Given the description of an element on the screen output the (x, y) to click on. 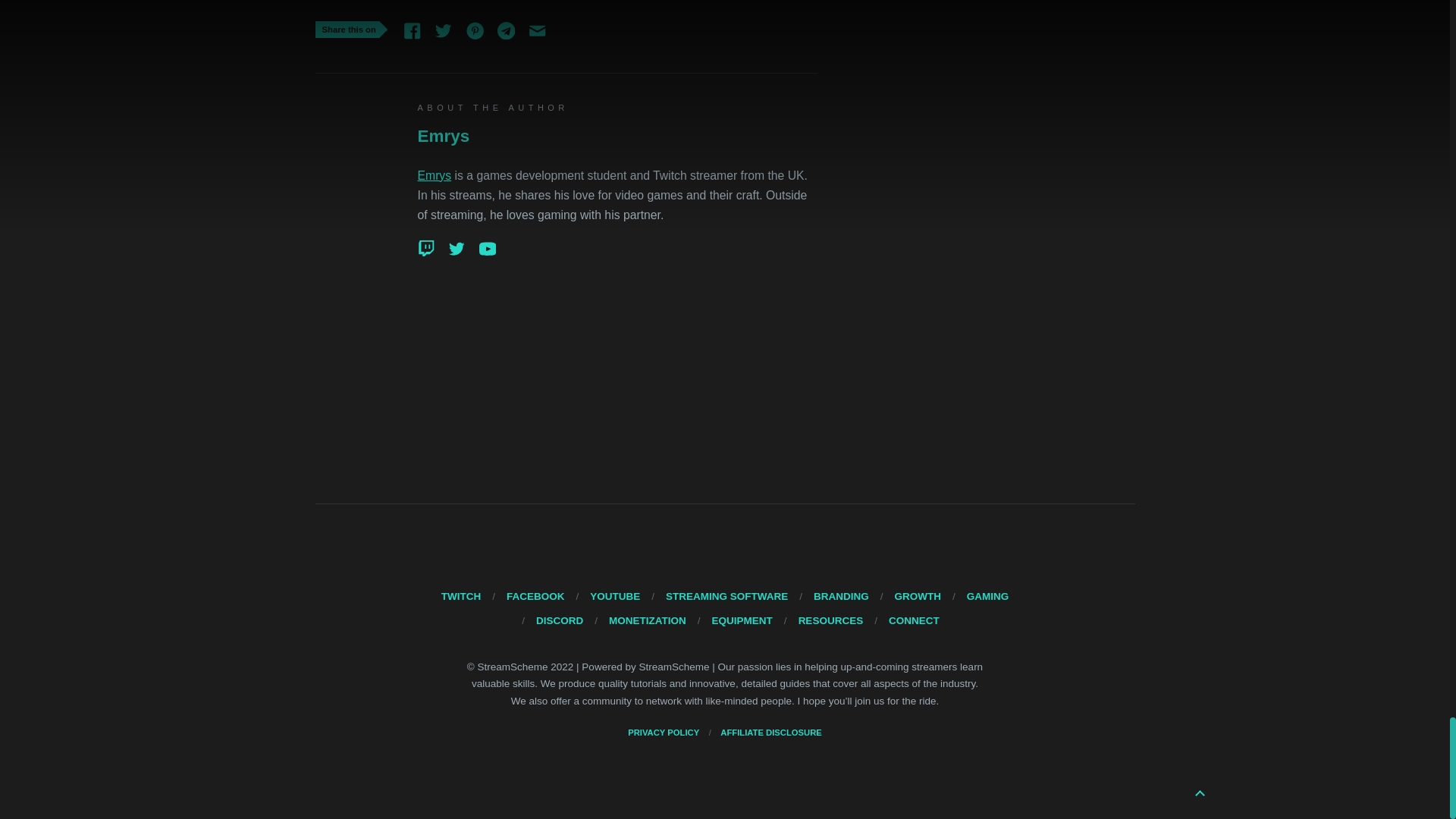
mail (537, 29)
twitter1 (537, 31)
Emrys (456, 252)
telegram (433, 174)
twitter1 (412, 29)
facebook1 (475, 29)
pinterest (506, 31)
twitch (443, 29)
